Given the description of an element on the screen output the (x, y) to click on. 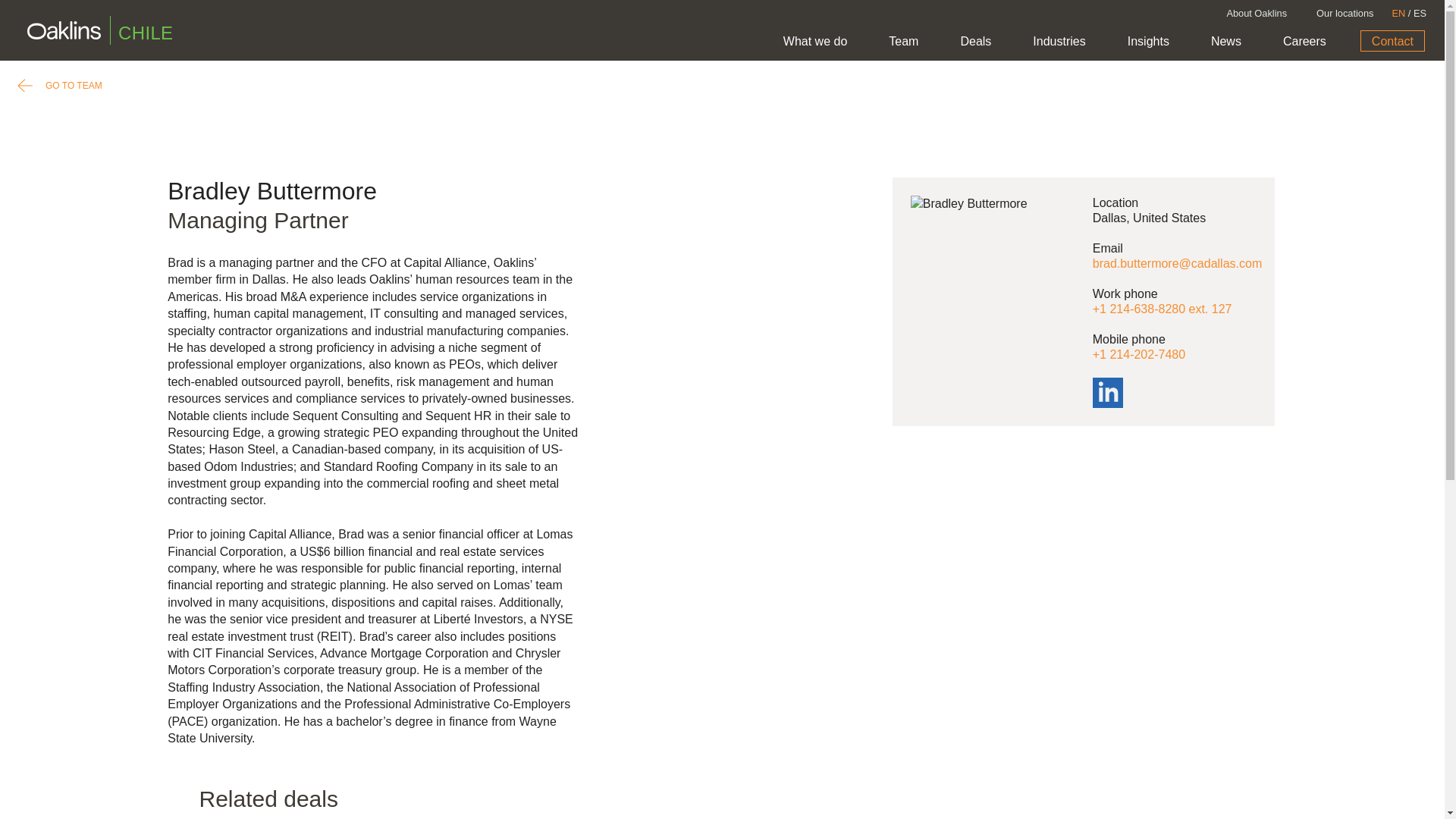
What we do (815, 42)
News (1226, 42)
Our locations (1344, 13)
ES (1419, 12)
Deals (975, 42)
Industries (1059, 42)
Careers (1304, 42)
Contact (1392, 40)
Insights (1147, 42)
EN (1398, 12)
GO TO TEAM (59, 85)
Team (903, 42)
About Oaklins (1256, 13)
